Given the description of an element on the screen output the (x, y) to click on. 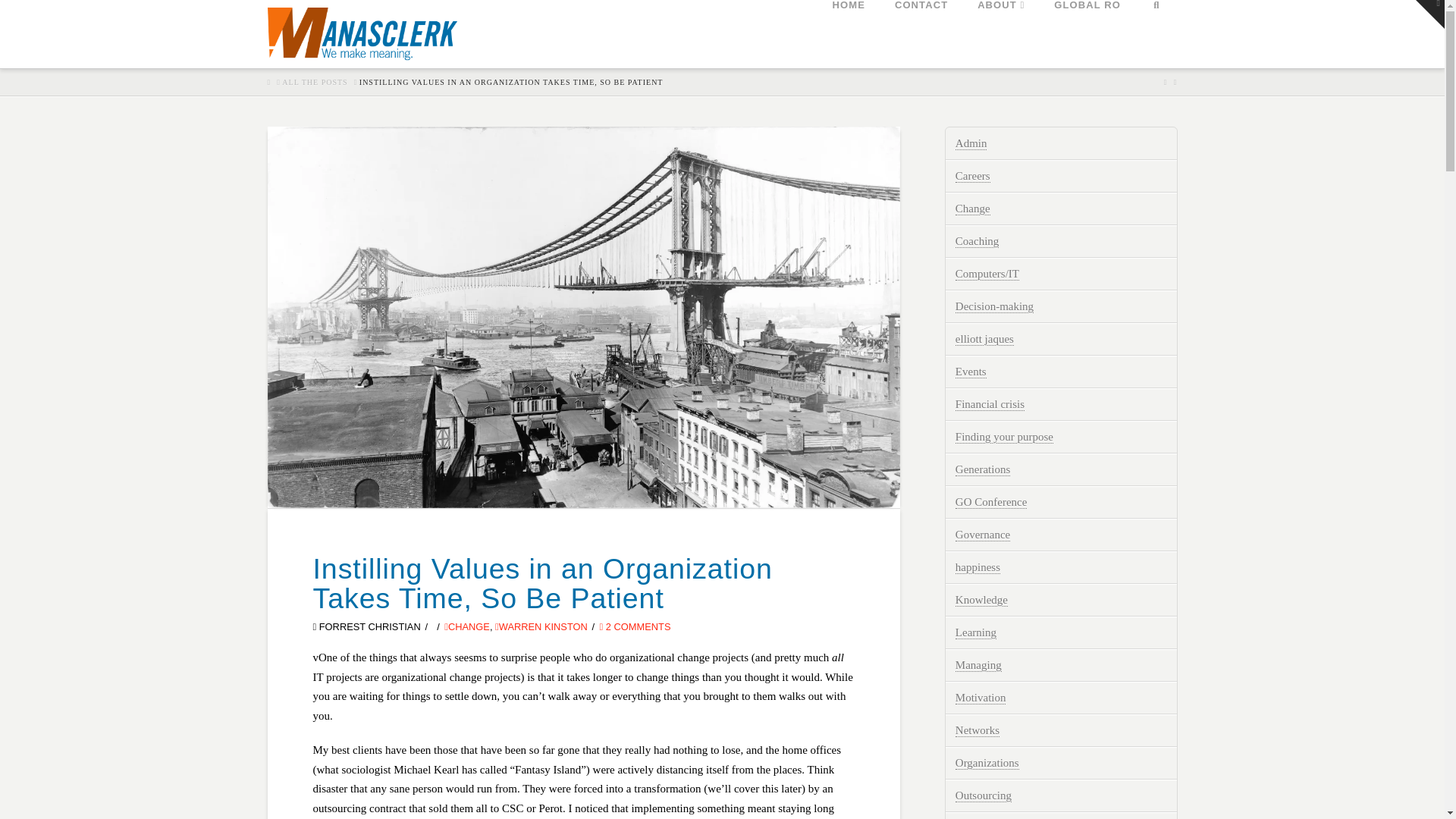
GLOBAL RO (1087, 33)
ALL THE POSTS (314, 81)
2 COMMENTS (635, 626)
WARREN KINSTON (541, 626)
ABOUT (1000, 33)
Admin (971, 143)
You Are Here (511, 81)
Careers (972, 175)
CHANGE (466, 626)
Change (972, 208)
HOME (847, 33)
CONTACT (920, 33)
